Given the description of an element on the screen output the (x, y) to click on. 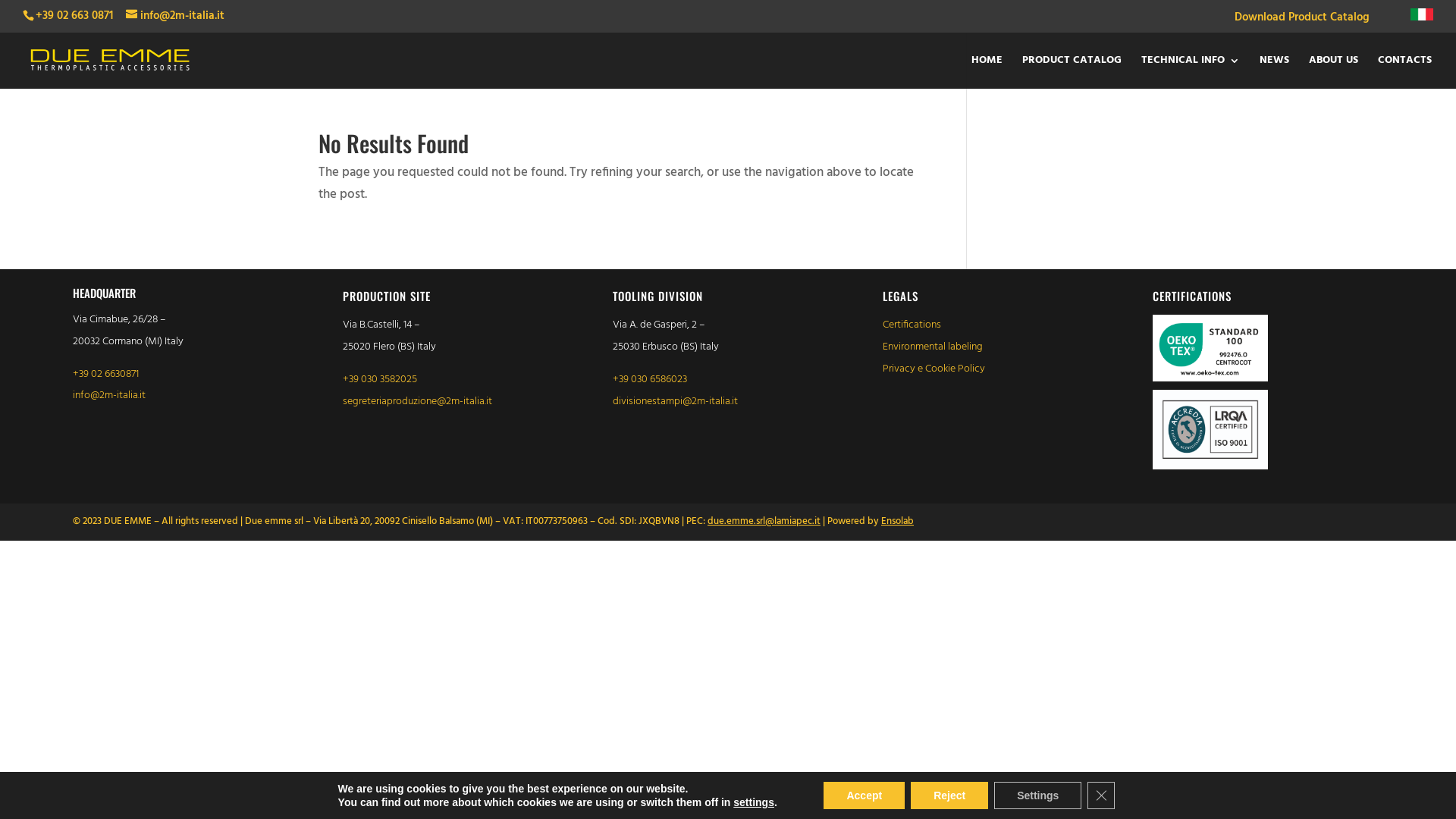
CONTACTS Element type: text (1404, 70)
Reject Element type: text (949, 795)
Download Product Catalog Element type: text (1301, 21)
Close GDPR Cookie Banner Element type: text (1100, 795)
due.emme.srl@lamiapec.it Element type: text (763, 521)
Privacy e Cookie Policy Element type: text (933, 368)
PRODUCT CATALOG Element type: text (1071, 70)
+39 030 3582025 Element type: text (379, 379)
Certifications Element type: text (911, 324)
Environmental labeling Element type: text (932, 346)
HOME Element type: text (986, 70)
ACCREDIA AND ISO 9001 - CMYK Element type: hover (1209, 428)
Ensolab Element type: text (897, 521)
Accept Element type: text (863, 795)
ABOUT US Element type: text (1333, 70)
info@2m-italia.it Element type: text (174, 15)
+39 02 663 0871 Element type: text (73, 15)
+39 030 6586023 Element type: text (649, 379)
info@2m-italia.it Element type: text (108, 395)
+39 02 6630871 Element type: text (105, 373)
992476.O_GREEN Element type: hover (1209, 347)
Settings Element type: text (1037, 795)
segreteriaproduzione@2m-italia.it Element type: text (417, 401)
TECHNICAL INFO Element type: text (1190, 70)
NEWS Element type: text (1274, 70)
divisionestampi@2m-italia.it Element type: text (674, 401)
